Given the description of an element on the screen output the (x, y) to click on. 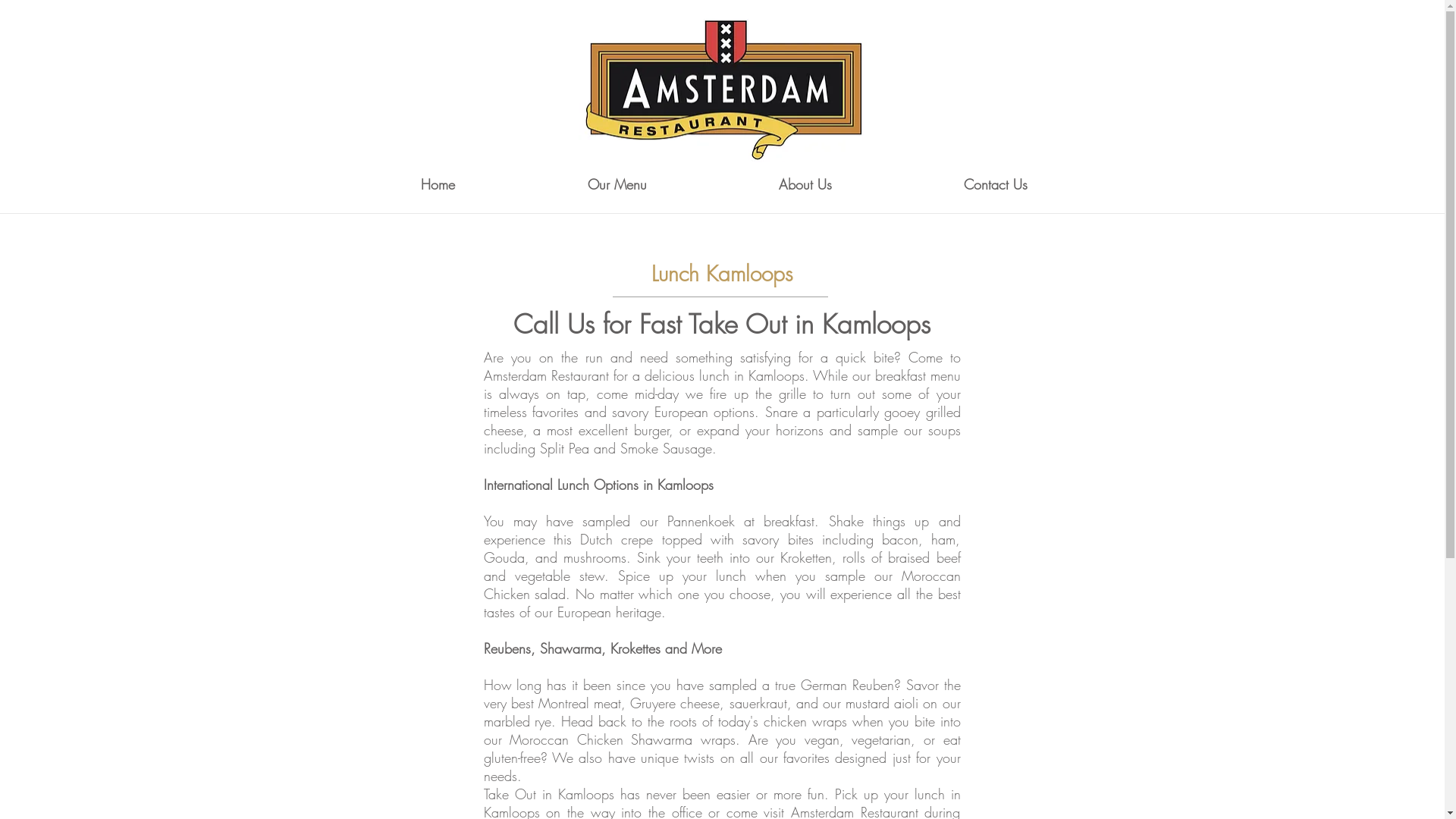
About Us Element type: text (804, 184)
Our Menu Element type: text (616, 184)
Home Element type: text (437, 184)
Contact Us Element type: text (995, 184)
